Given the description of an element on the screen output the (x, y) to click on. 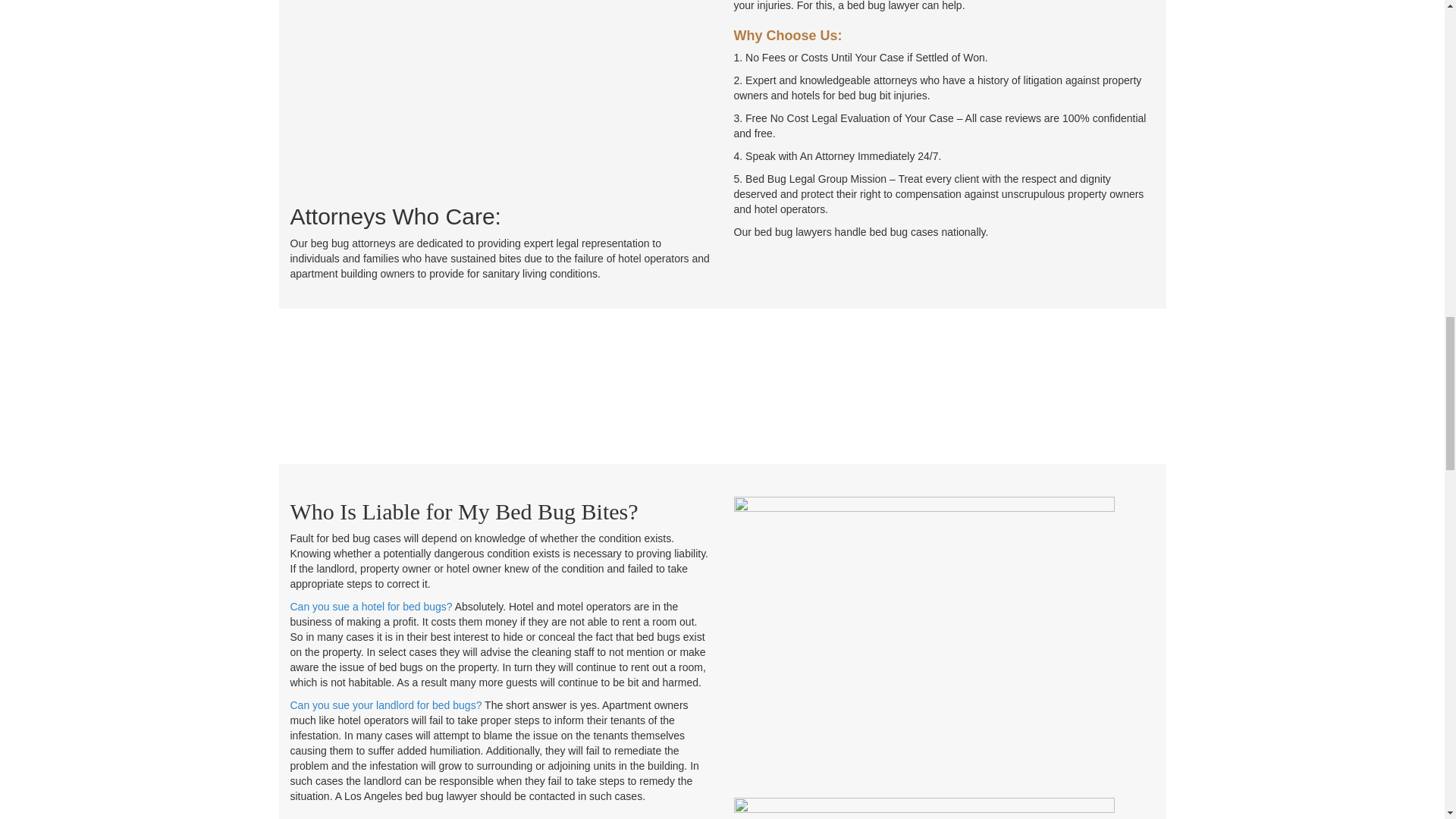
Can you sue your landlord for bed bugs? (385, 705)
Can you sue a hotel for bed bugs? (370, 606)
